Given the description of an element on the screen output the (x, y) to click on. 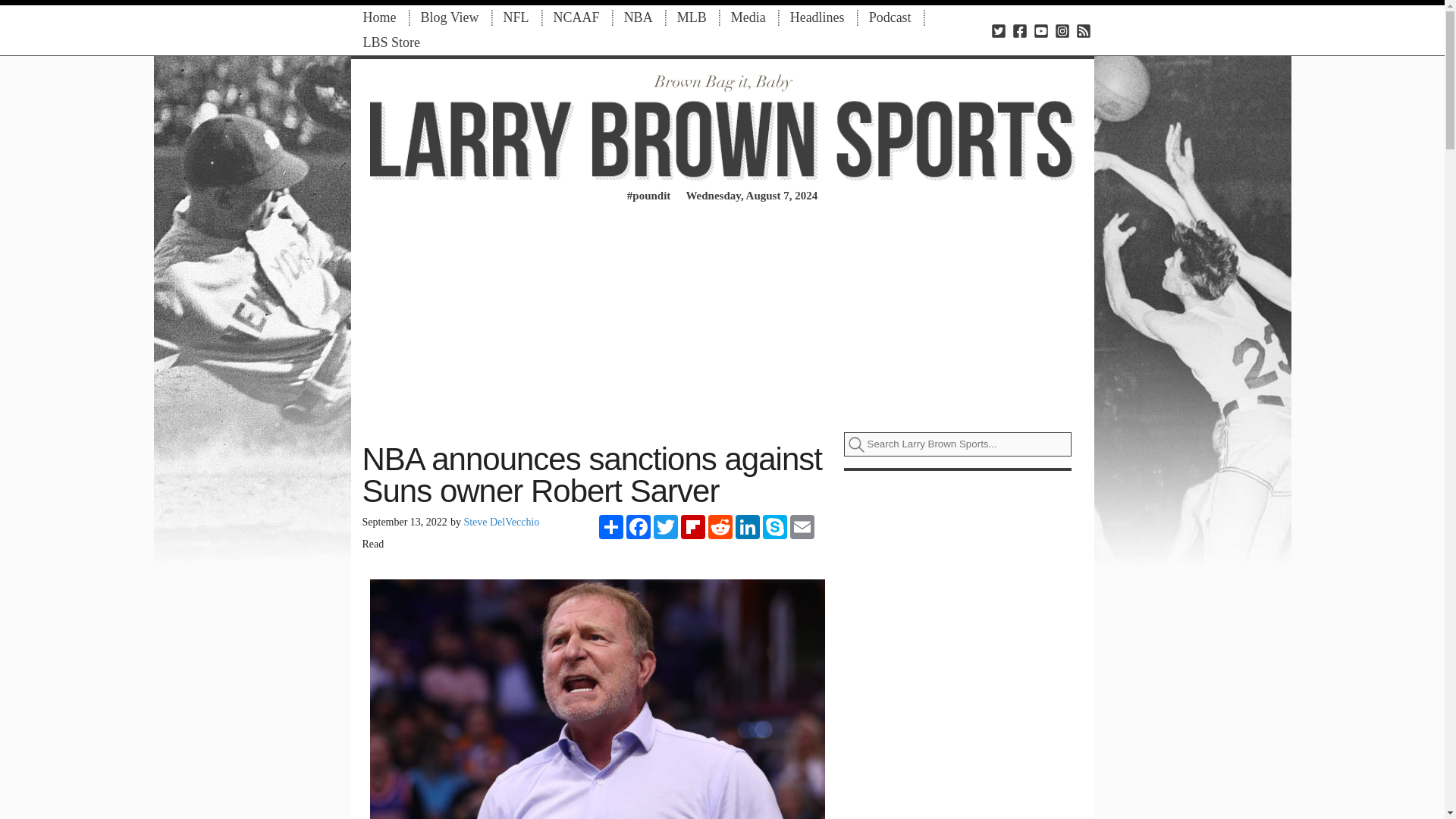
Subscribe to Larry Brown Sports RSS Feed (1082, 29)
LBS Store (391, 42)
Blog View (448, 17)
Home (378, 17)
Media (748, 17)
Flipboard (692, 526)
View Larry Brown Sports Facebook (1018, 29)
NCAAF (576, 17)
View Larry Brown Sports Youtube (1040, 29)
NBA (638, 17)
